Given the description of an element on the screen output the (x, y) to click on. 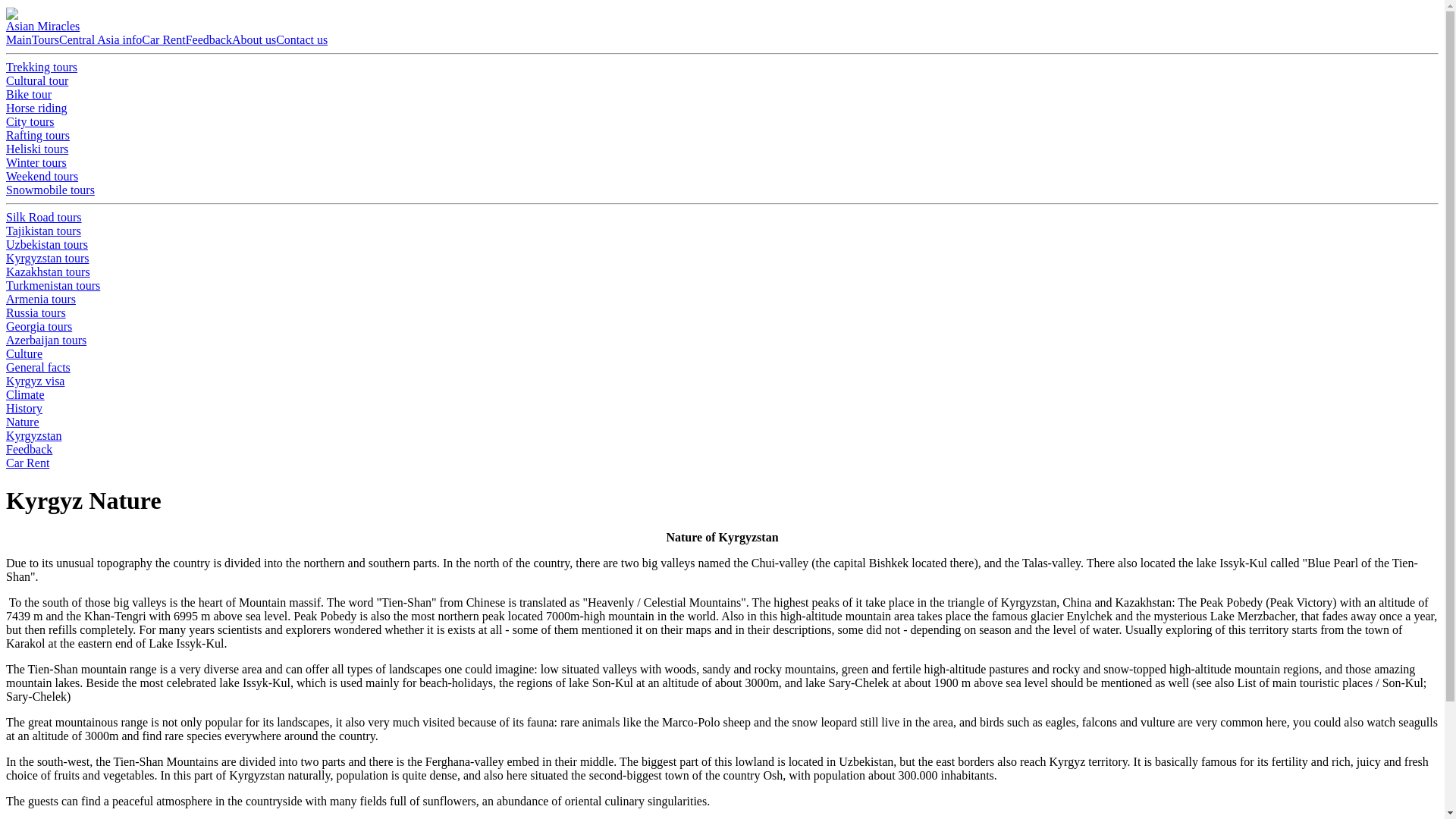
City tours (30, 121)
Main (18, 39)
Winter tours (35, 162)
Central Asia info (100, 39)
Car Rent (27, 462)
Kyrgyz visa (34, 380)
Kazakhstan tours (47, 271)
Contact us (301, 39)
Nature (22, 421)
About us (253, 39)
